Given the description of an element on the screen output the (x, y) to click on. 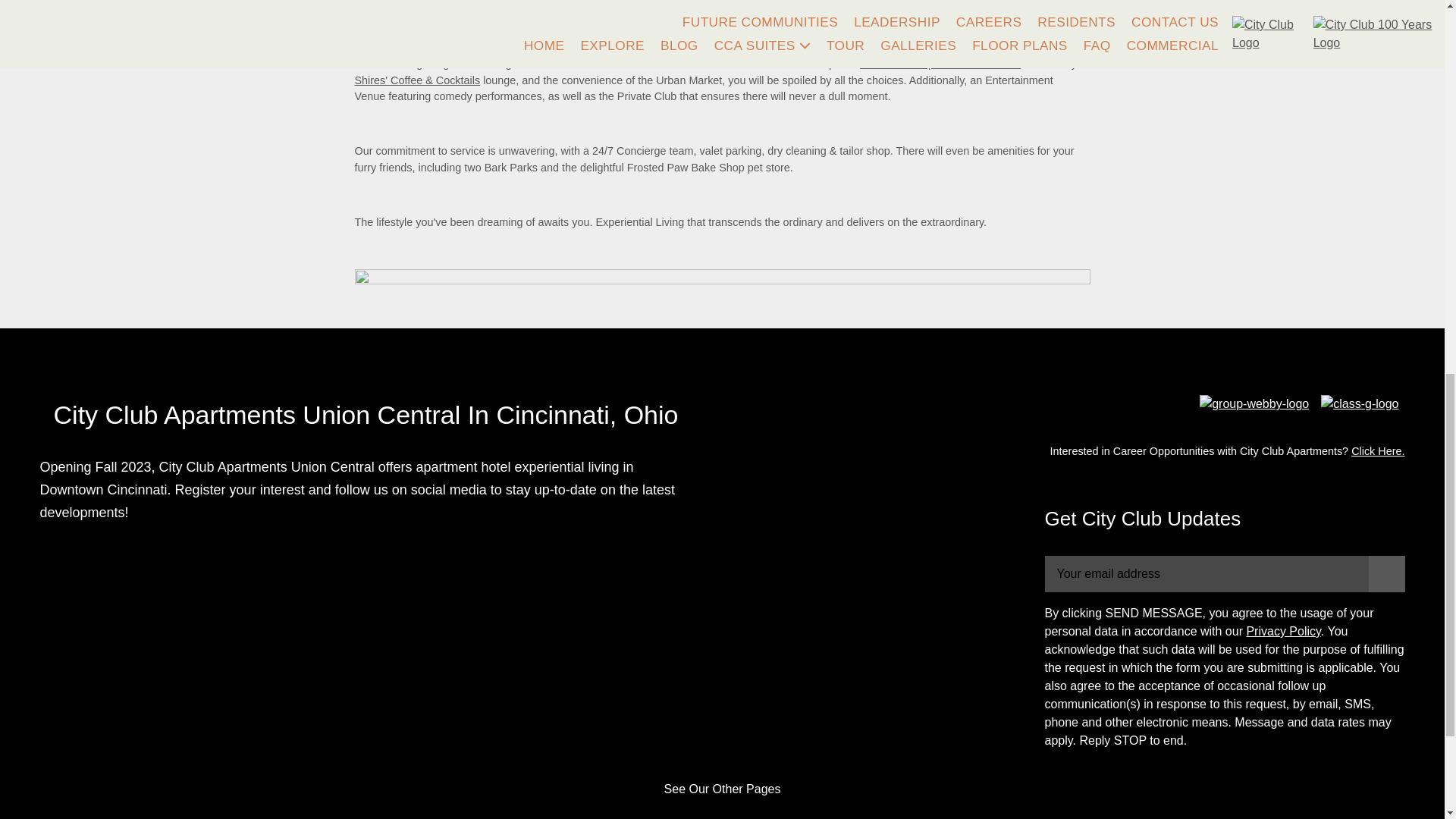
See Our Other Pages (721, 788)
Send (1386, 574)
Privacy Policy (1283, 631)
Click Here. (1378, 451)
